Given the description of an element on the screen output the (x, y) to click on. 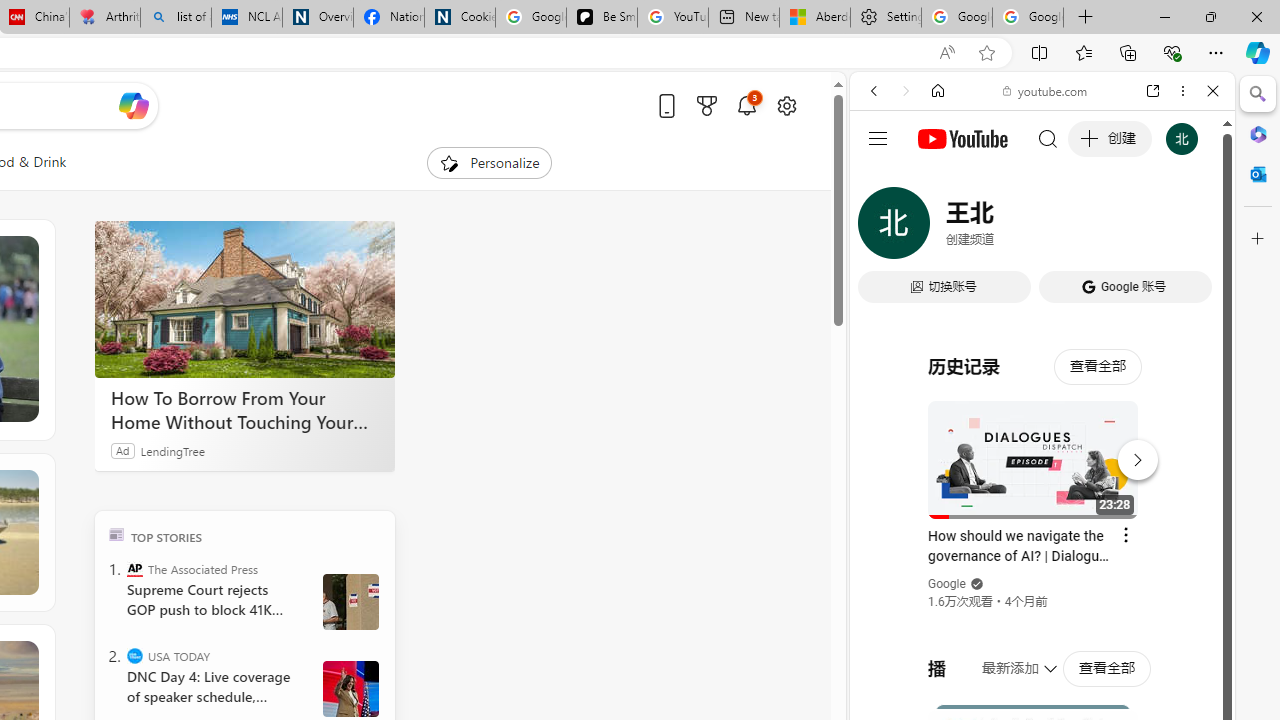
WEB   (882, 228)
Back (874, 91)
Music (1042, 543)
Close Outlook pane (1258, 174)
Settings and more (Alt+F) (1215, 52)
VIDEOS (1006, 228)
Browser essentials (1171, 52)
Minimize (1164, 16)
LendingTree (172, 450)
Forward (906, 91)
Personalize (488, 162)
Open link in new tab (1153, 91)
Music (1042, 543)
Open settings (786, 105)
